Given the description of an element on the screen output the (x, y) to click on. 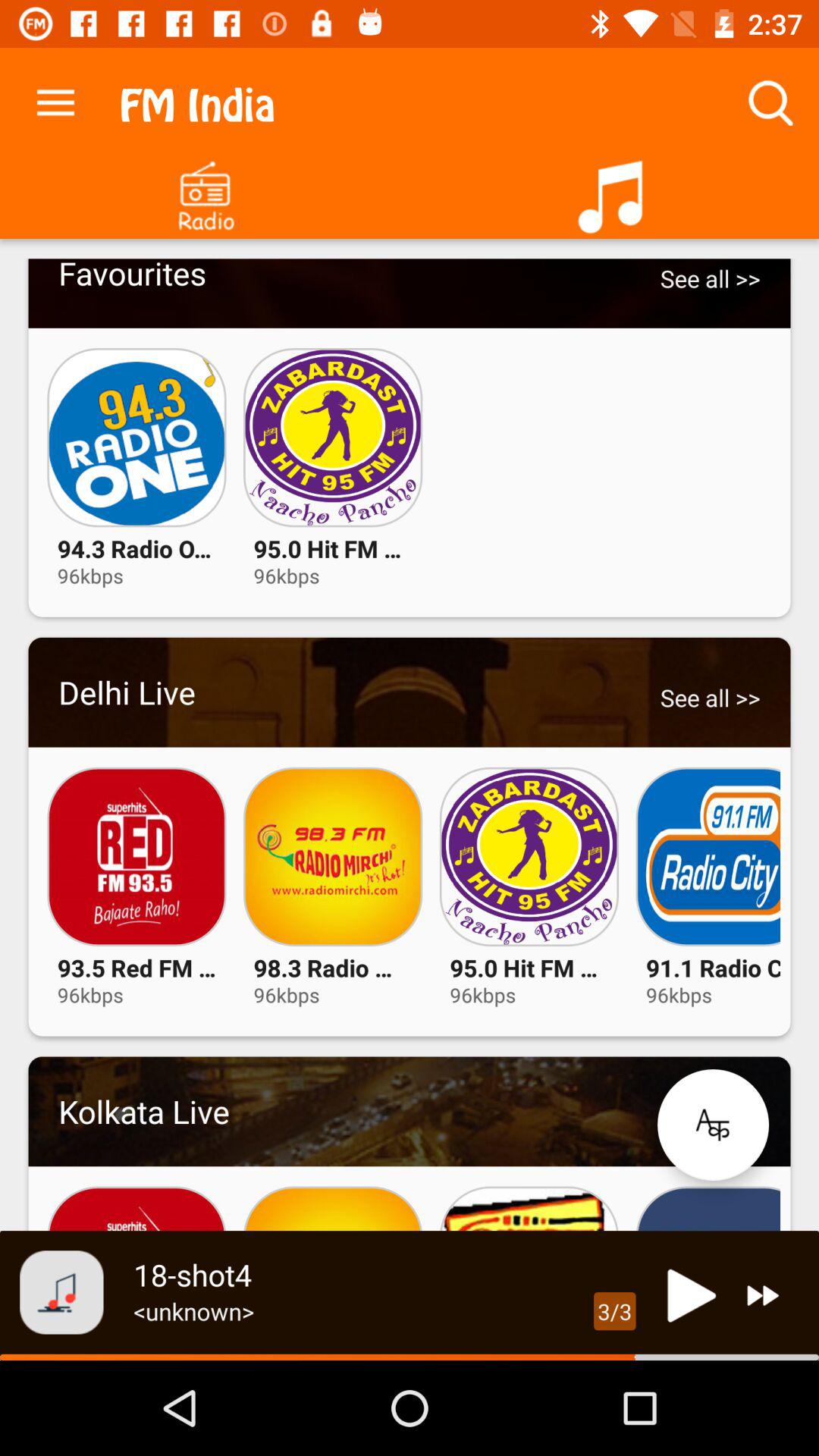
music playlist (614, 190)
